Given the description of an element on the screen output the (x, y) to click on. 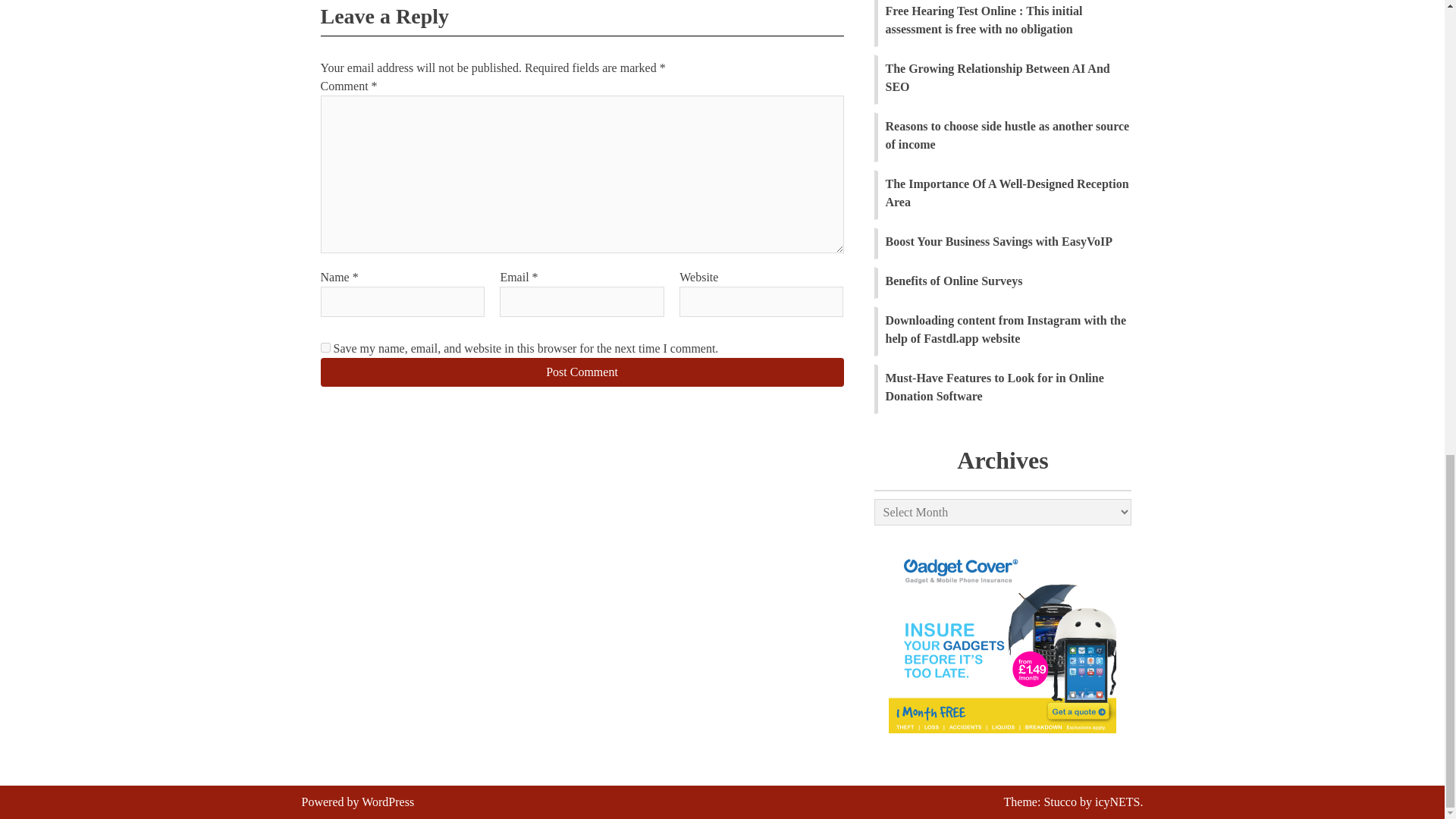
Post Comment (581, 371)
yes (325, 347)
Post Comment (581, 371)
